Given the description of an element on the screen output the (x, y) to click on. 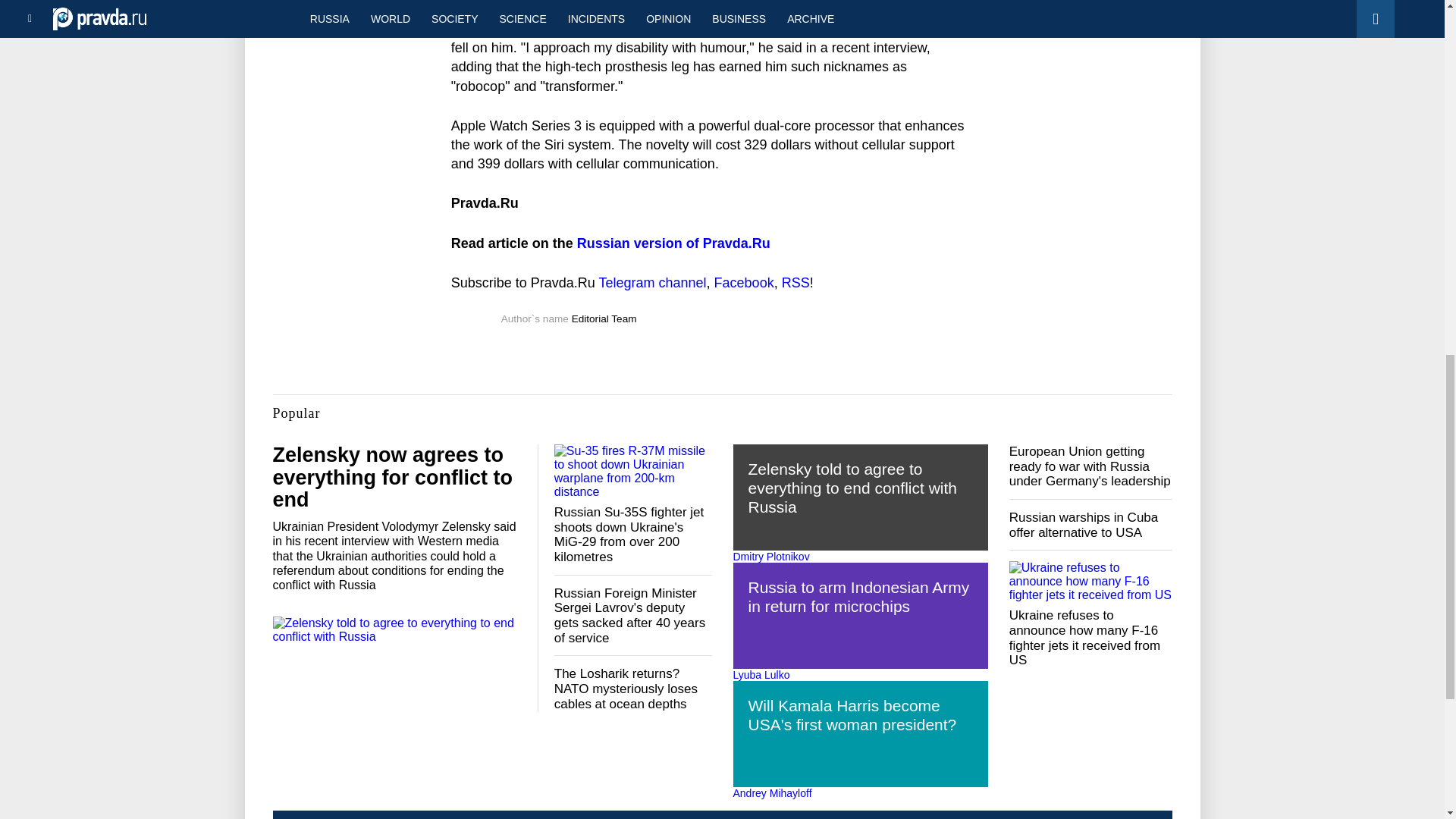
Back to top (1418, 79)
RSS (795, 282)
Telegram channel (652, 282)
Russian version of Pravda.Ru (673, 242)
Facebook (744, 282)
